Given the description of an element on the screen output the (x, y) to click on. 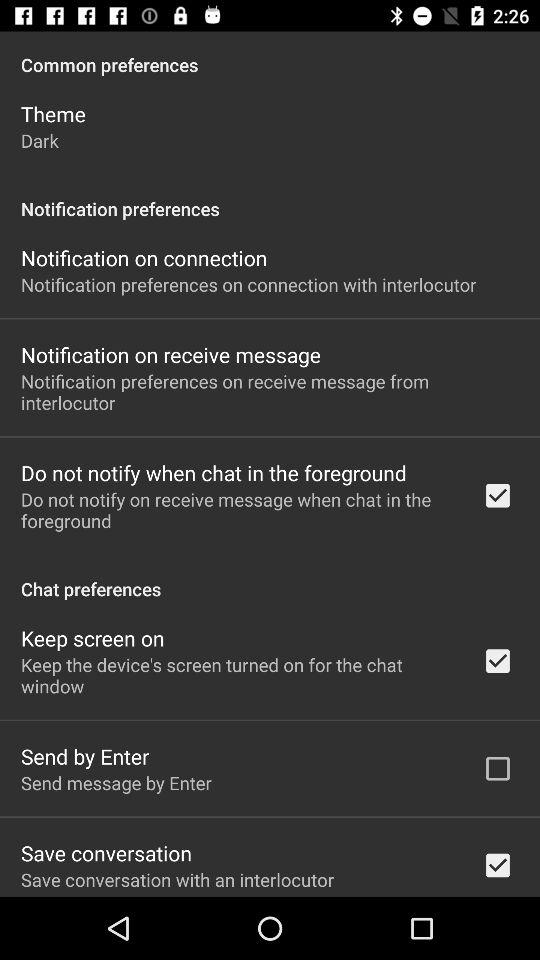
click the icon above send by enter (238, 675)
